Given the description of an element on the screen output the (x, y) to click on. 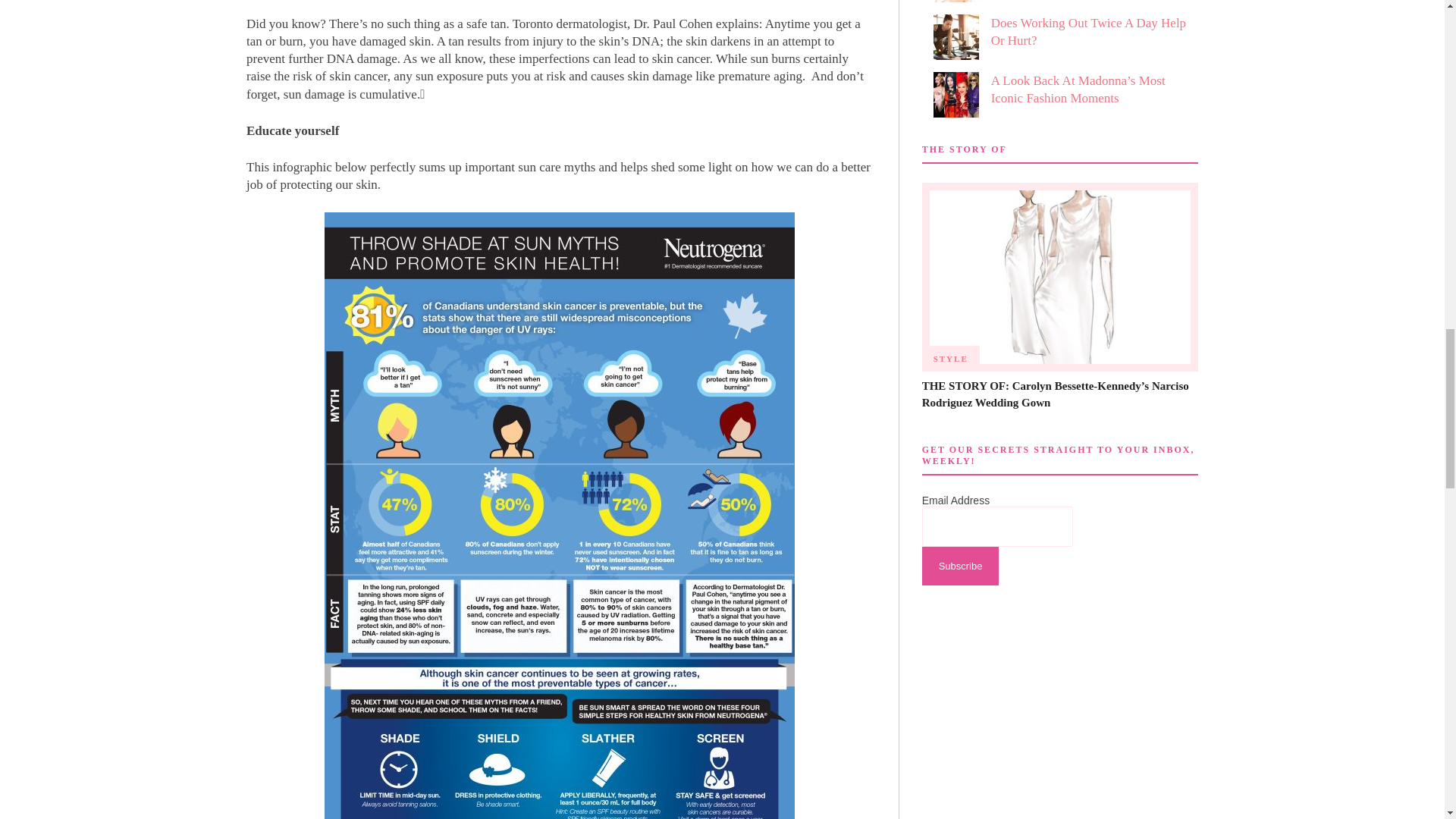
Subscribe (959, 566)
